Given the description of an element on the screen output the (x, y) to click on. 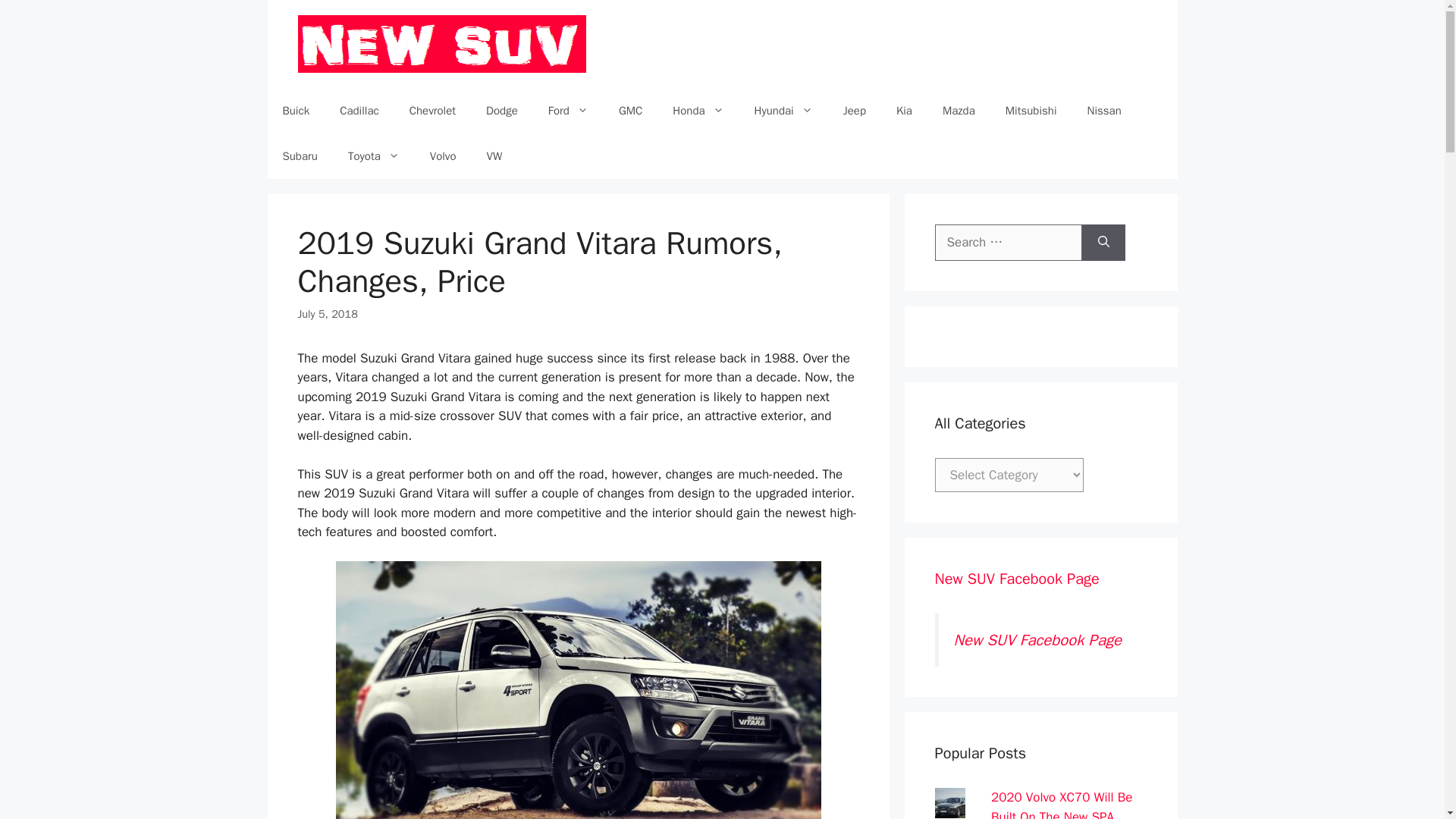
Mitsubishi (1030, 110)
Toyota (373, 156)
Nissan (1104, 110)
Volvo (442, 156)
GMC (631, 110)
Jeep (854, 110)
Subaru (298, 156)
Chevrolet (432, 110)
Buick (295, 110)
Honda (698, 110)
VW (494, 156)
Hyundai (783, 110)
Mazda (958, 110)
Ford (568, 110)
Cadillac (359, 110)
